Given the description of an element on the screen output the (x, y) to click on. 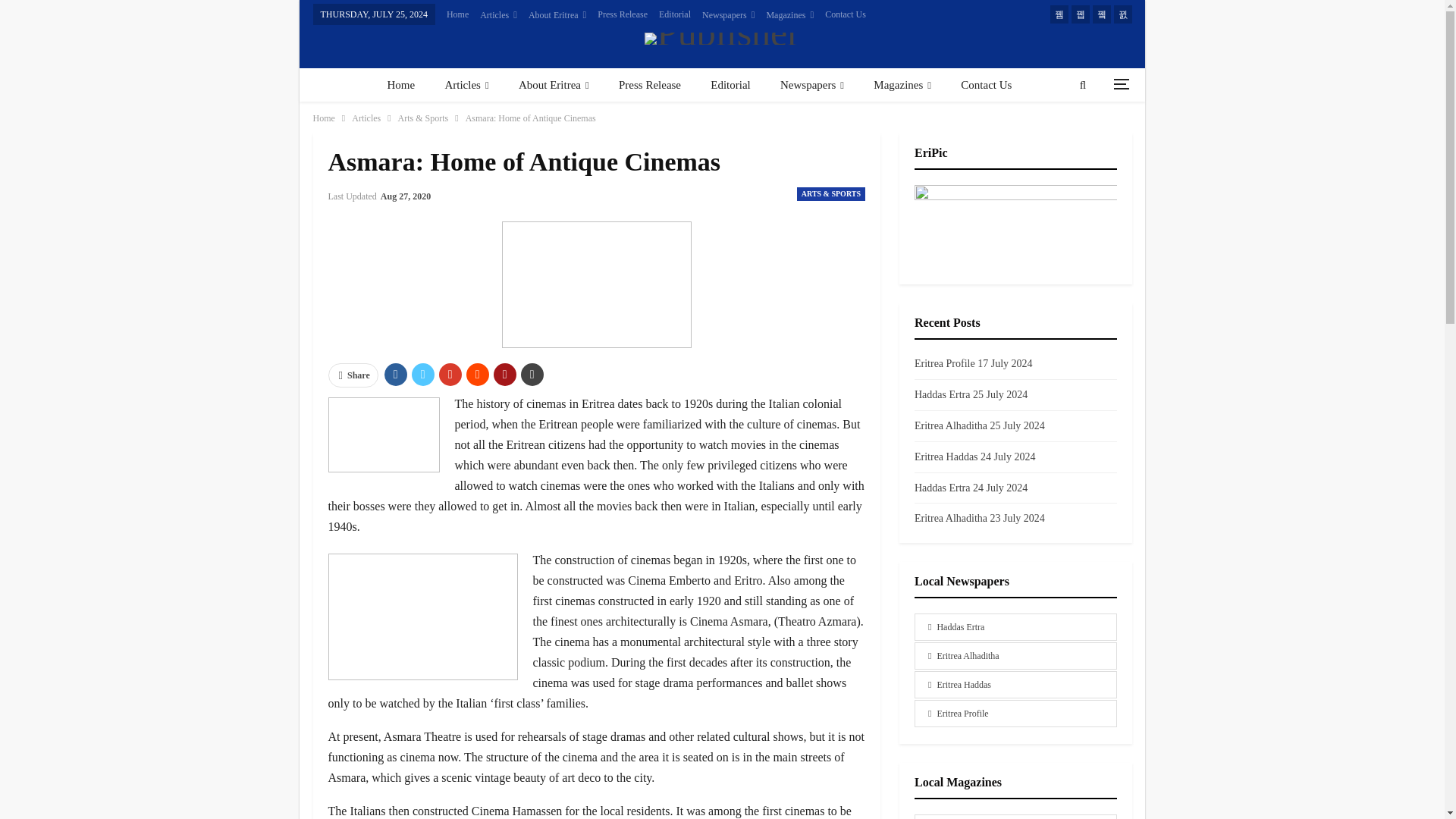
Editorial (674, 14)
About Eritrea (557, 14)
Articles (466, 84)
Press Release (621, 14)
Home (457, 14)
Articles (498, 14)
Contact Us (845, 14)
Newspapers (727, 14)
Magazines (789, 14)
Home (400, 84)
